Given the description of an element on the screen output the (x, y) to click on. 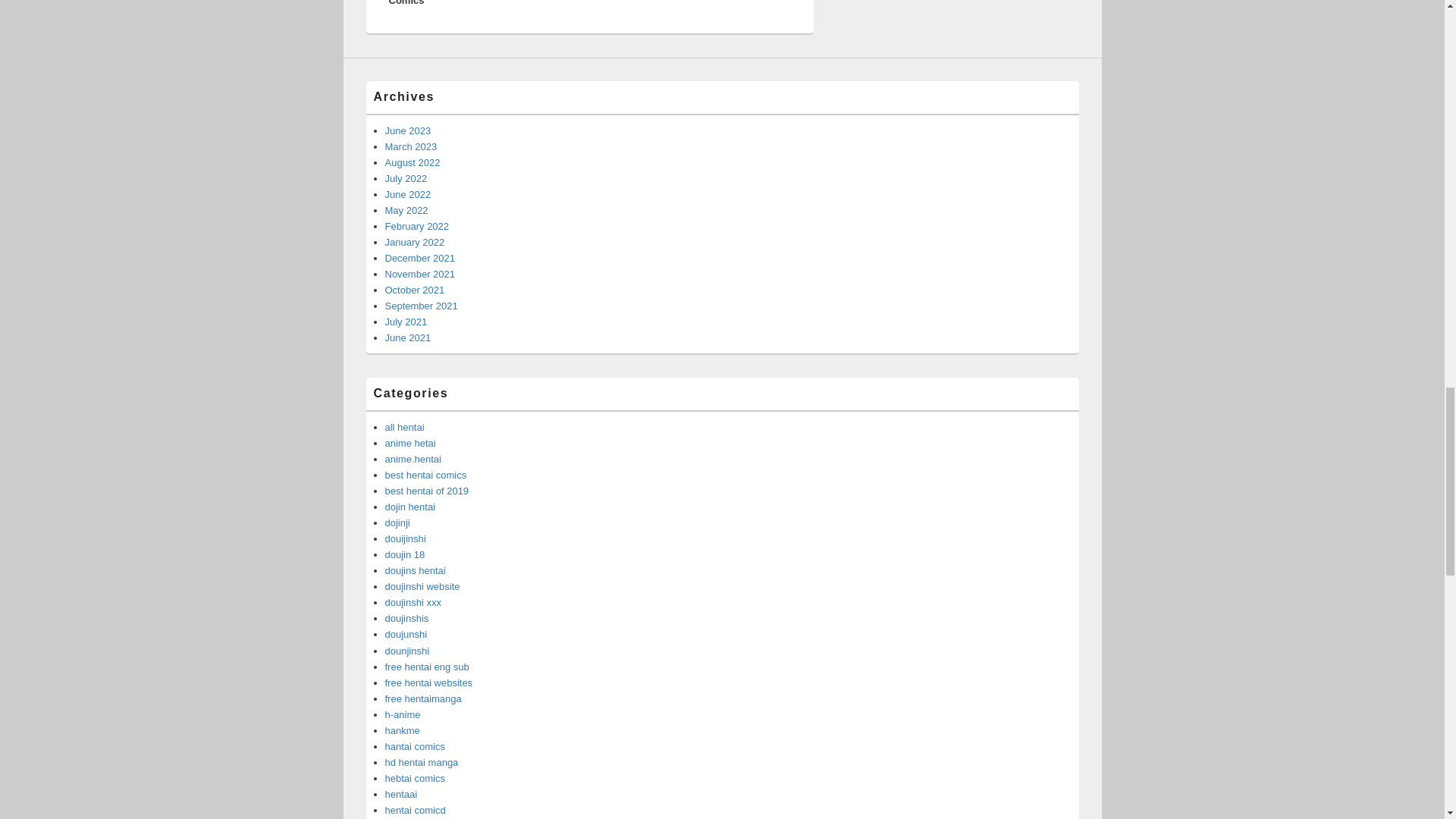
January 2022 (415, 242)
June 2023 (407, 130)
June 2022 (407, 194)
September 2021 (421, 306)
October 2021 (415, 289)
December 2021 (420, 257)
July 2021 (406, 321)
June 2021 (407, 337)
August 2022 (413, 162)
March 2023 (411, 146)
May 2022 (406, 210)
February 2022 (417, 225)
July 2022 (406, 178)
November 2021 (420, 274)
